Given the description of an element on the screen output the (x, y) to click on. 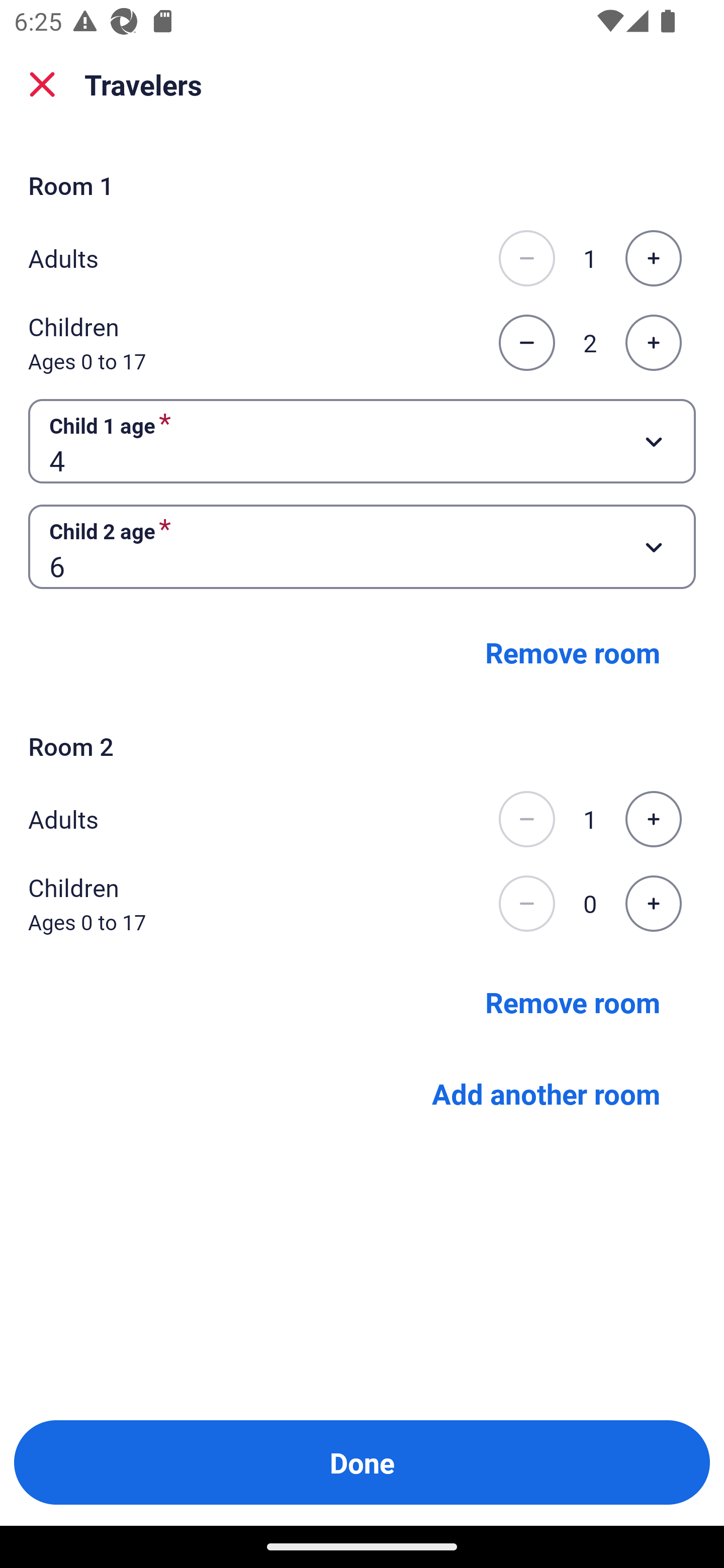
close (42, 84)
Decrease the number of adults (526, 258)
Increase the number of adults (653, 258)
Decrease the number of children (526, 343)
Increase the number of children (653, 343)
Child 1 age required Button 4 (361, 440)
Child 2 age required Button 6 (361, 546)
Remove room (572, 651)
Decrease the number of adults (526, 818)
Increase the number of adults (653, 818)
Decrease the number of children (526, 902)
Increase the number of children (653, 902)
Remove room (572, 1001)
Add another room (545, 1093)
Done (361, 1462)
